Given the description of an element on the screen output the (x, y) to click on. 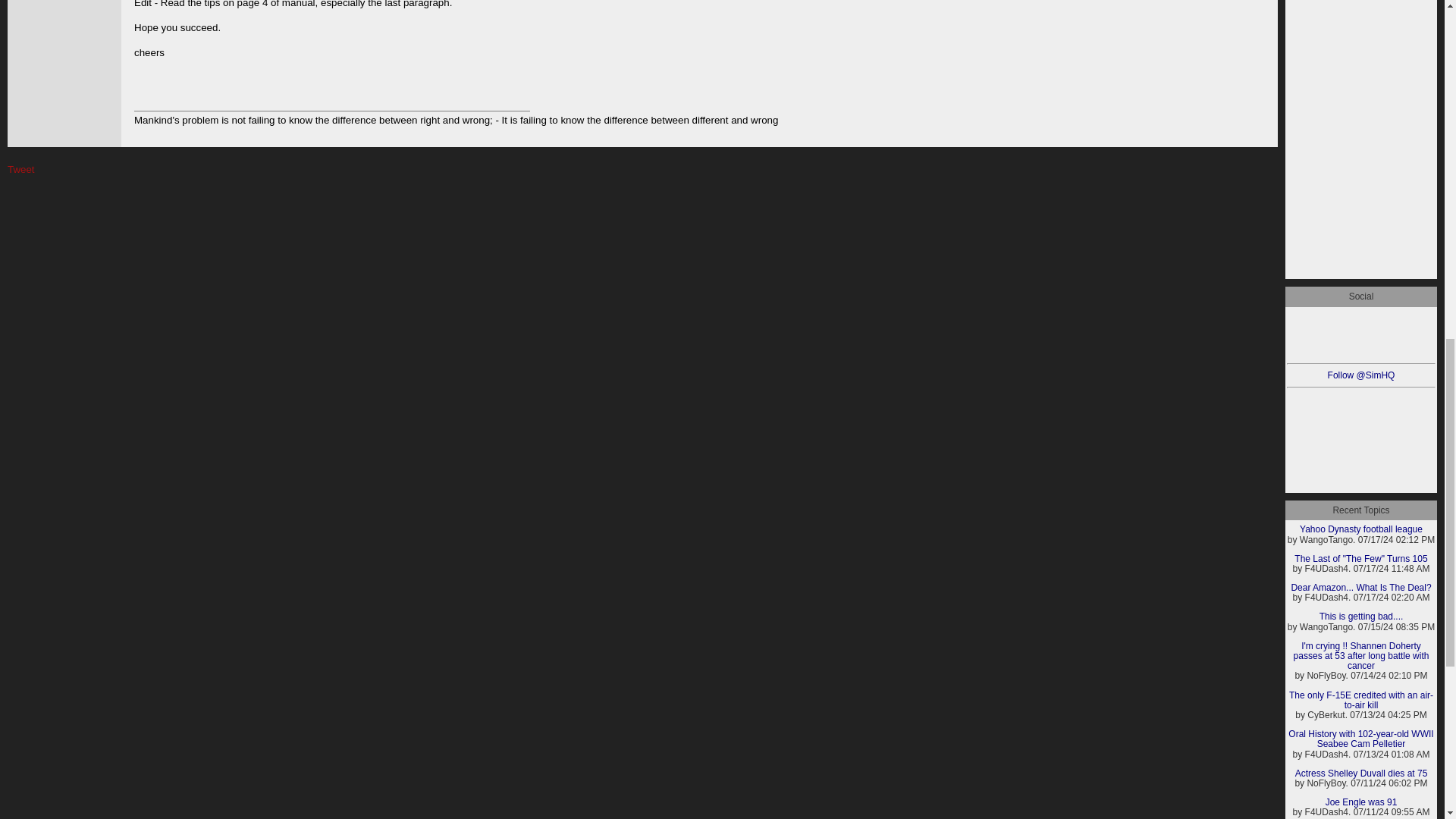
Tweet (20, 169)
